Given the description of an element on the screen output the (x, y) to click on. 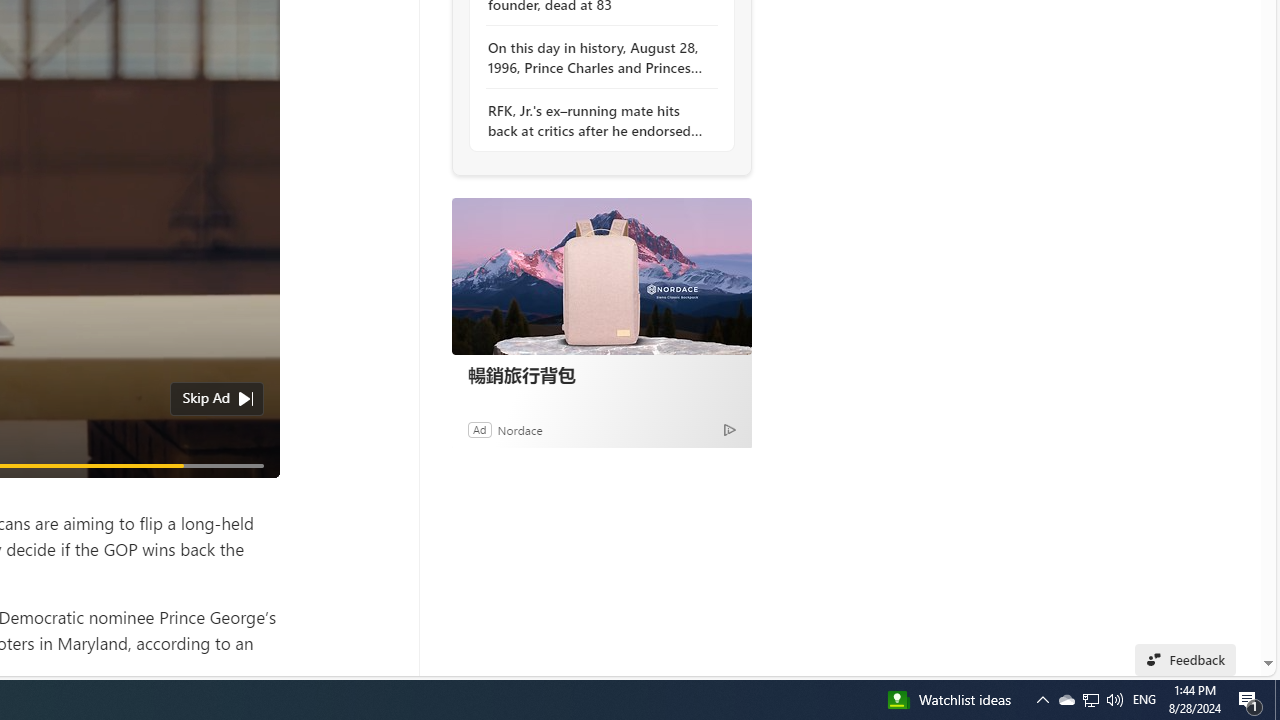
Skip Ad (205, 398)
Unmute (253, 489)
